Given the description of an element on the screen output the (x, y) to click on. 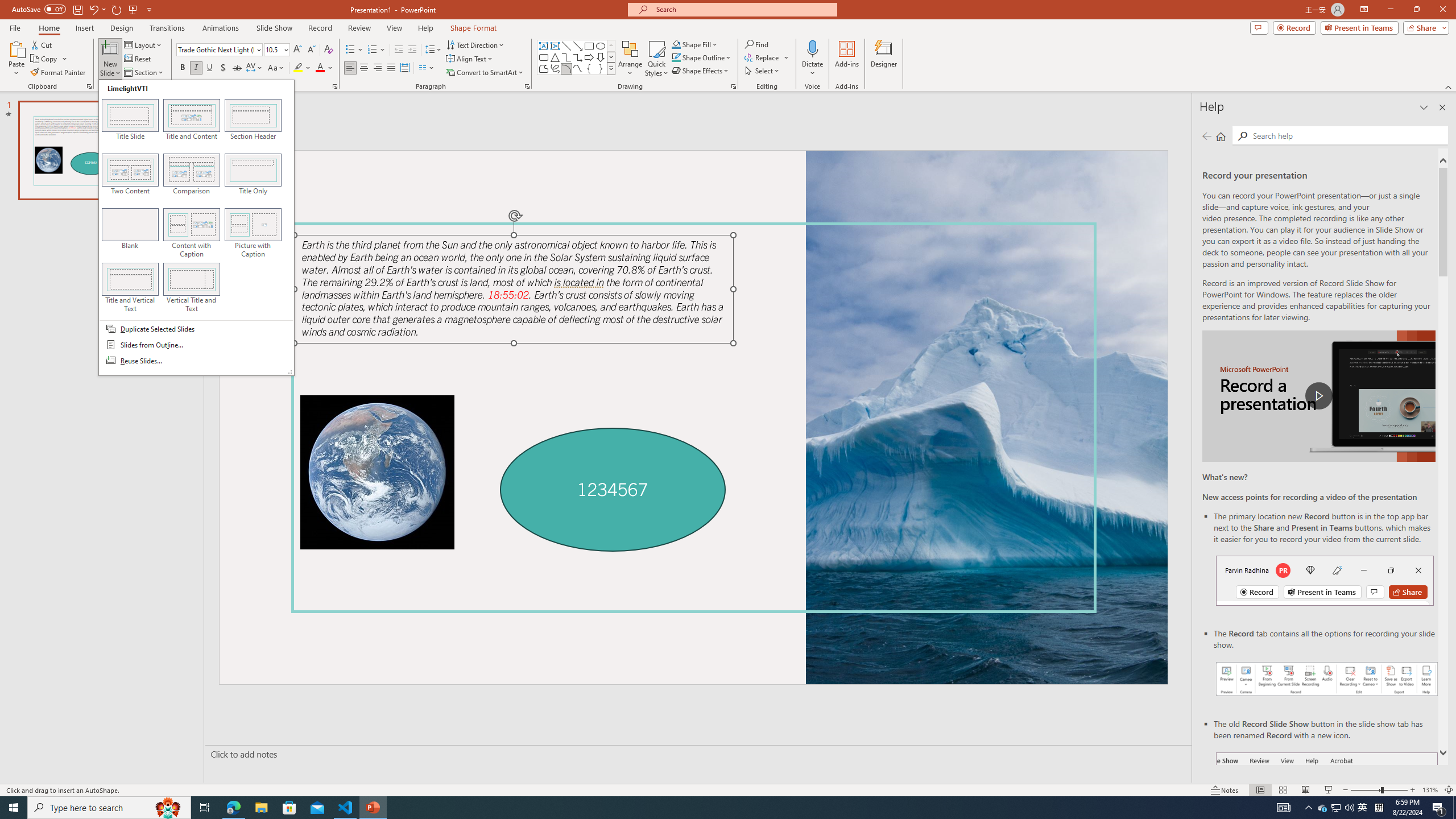
Microsoft Edge - 1 running window (233, 807)
Shape Format (473, 28)
